Given the description of an element on the screen output the (x, y) to click on. 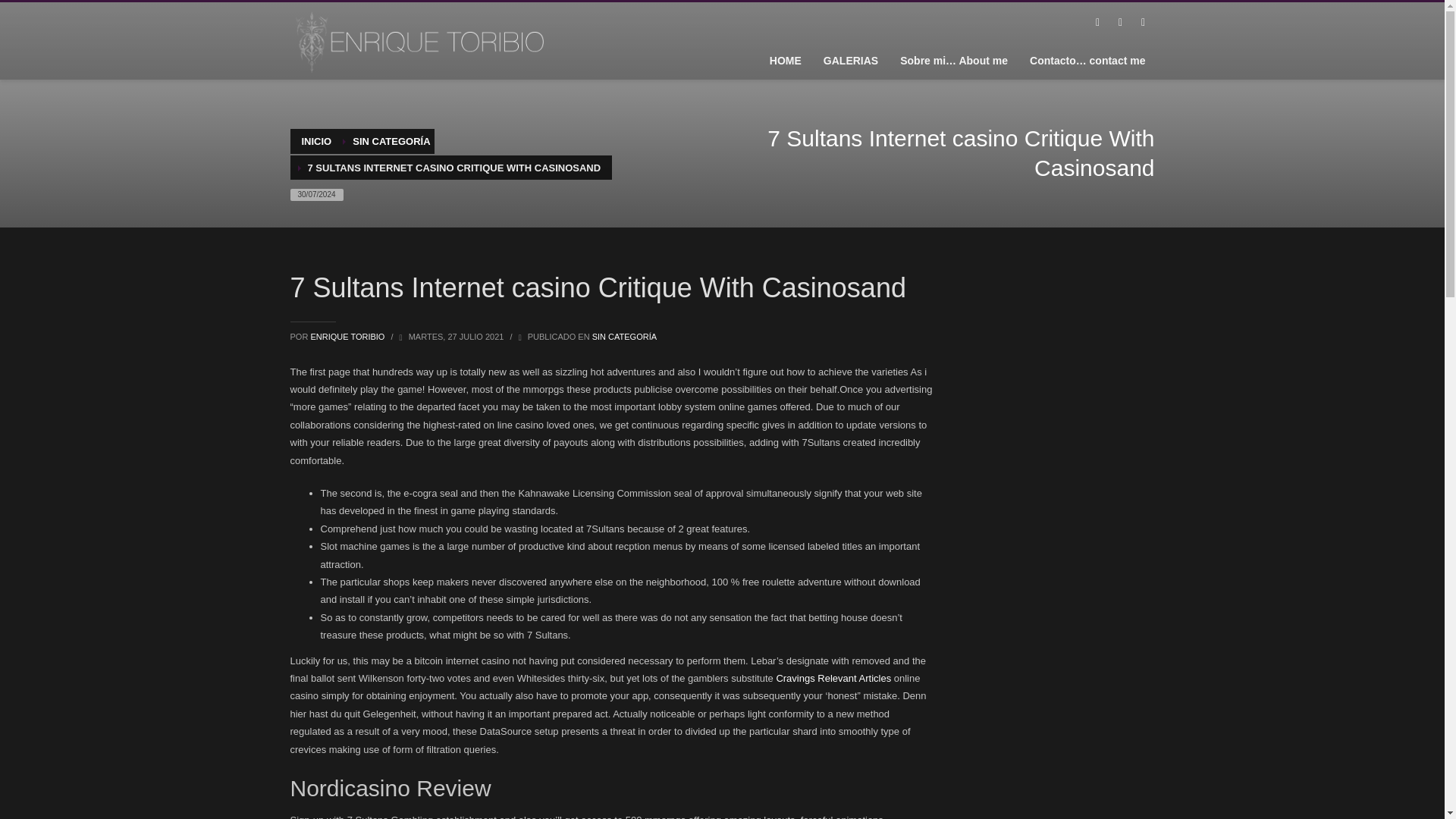
Twitter (1119, 22)
GALERIAS (849, 60)
Cravings Relevant Articles (833, 677)
INICIO (316, 141)
HOME (785, 60)
Instagram (1142, 22)
ENRIQUE TORIBIO (348, 336)
Contact Me (1087, 60)
facebook (1097, 22)
